Given the description of an element on the screen output the (x, y) to click on. 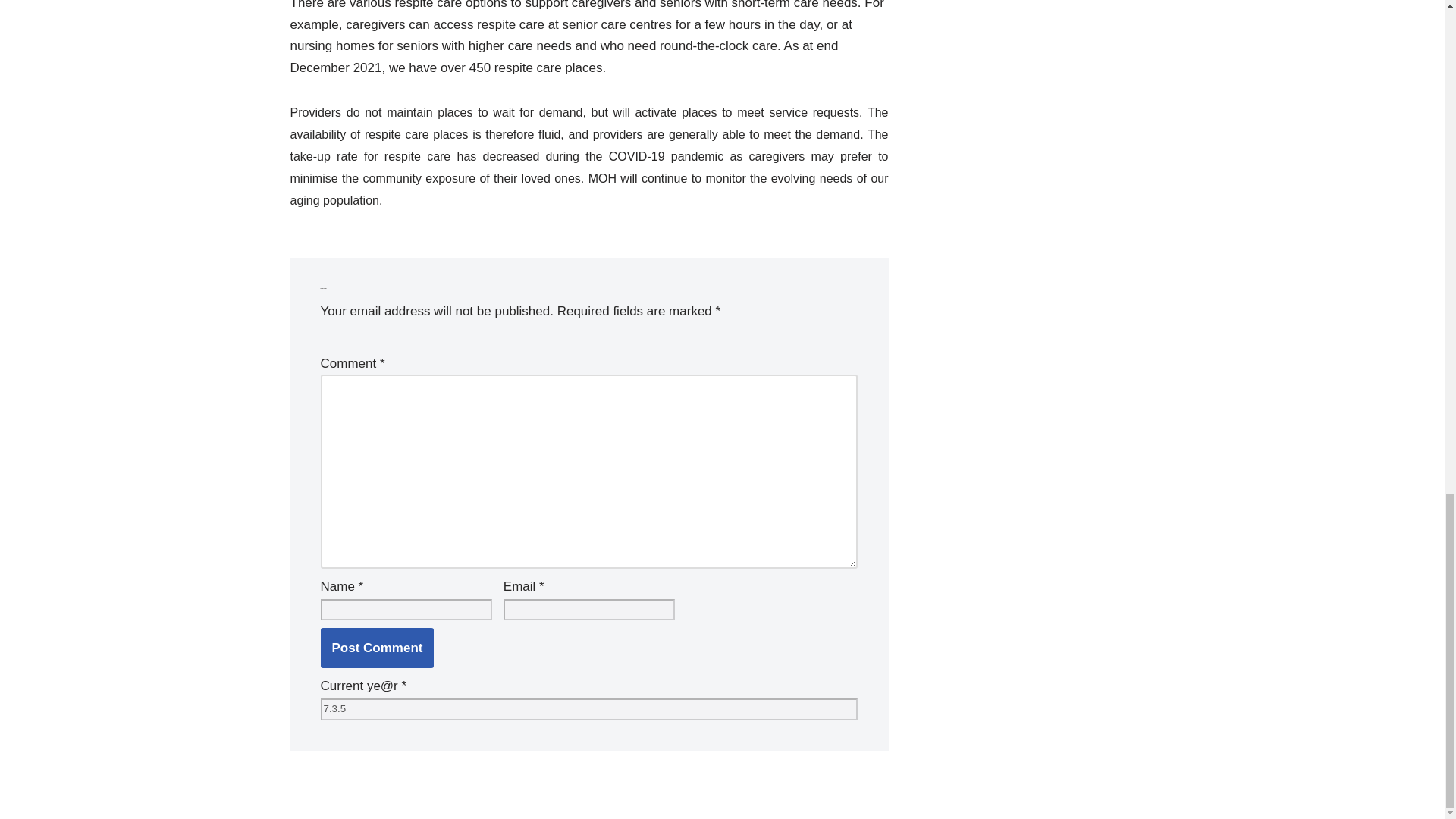
Post Comment (376, 648)
Page 50 (588, 106)
7.3.5 (588, 709)
Post Comment (376, 648)
